Given the description of an element on the screen output the (x, y) to click on. 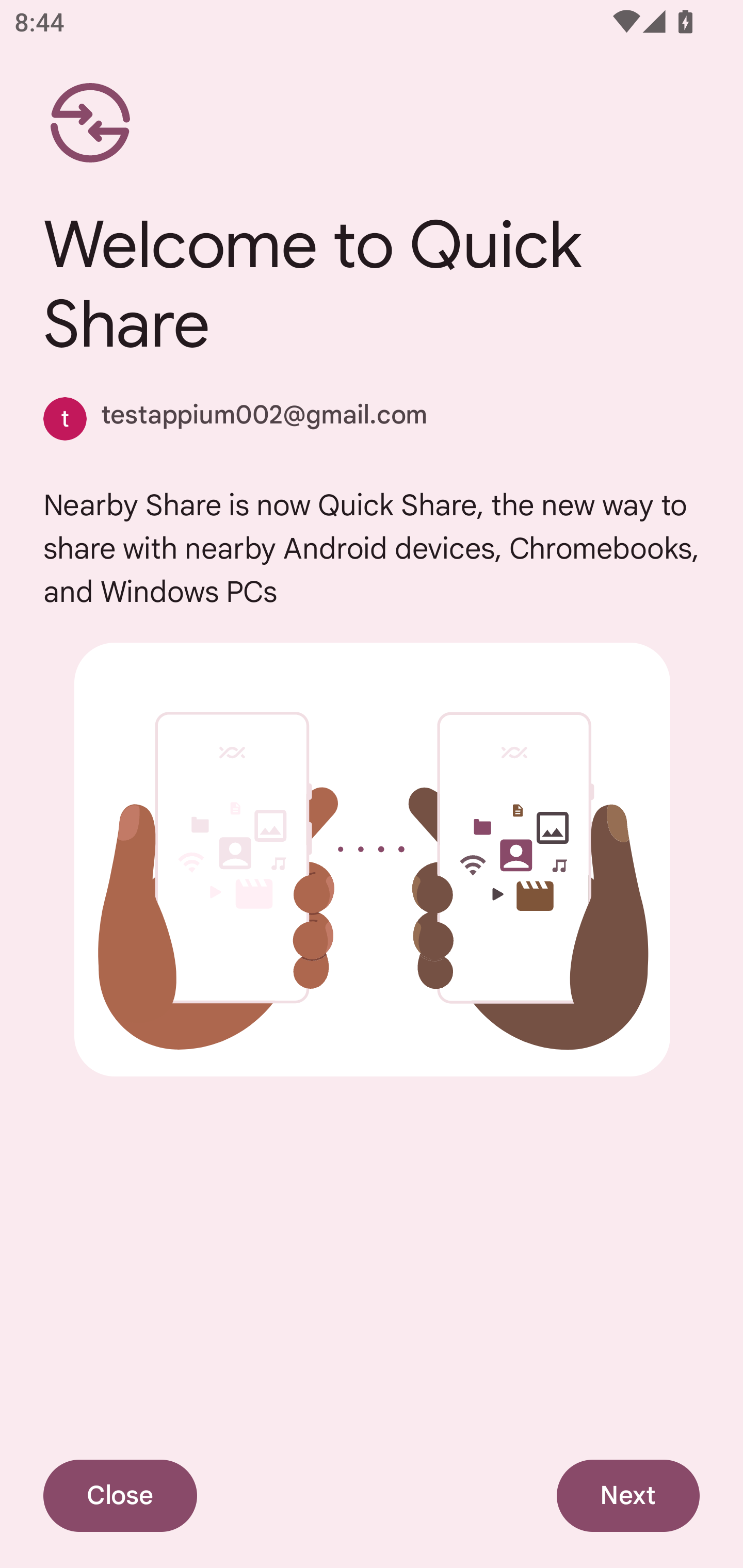
Close (119, 1495)
Next (627, 1495)
